Given the description of an element on the screen output the (x, y) to click on. 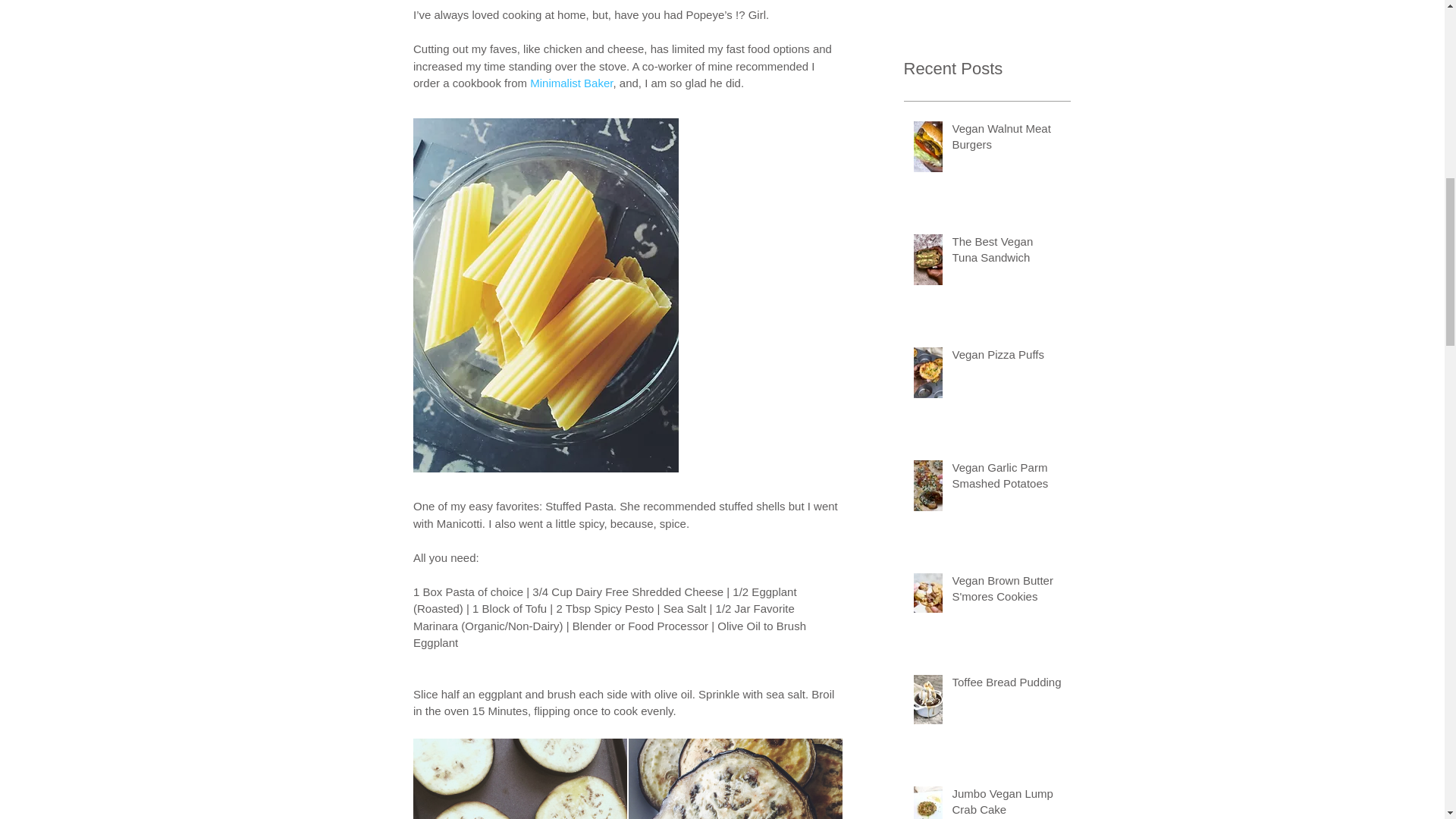
The Best Vegan Tuna Sandwich (1006, 252)
Minimalist Baker (570, 82)
Vegan Pizza Puffs (1006, 357)
Jumbo Vegan Lump Crab Cake (1006, 802)
Vegan Brown Butter S'mores Cookies (1006, 591)
Vegan Garlic Parm Smashed Potatoes (1006, 478)
Vegan Walnut Meat Burgers (1006, 139)
Toffee Bread Pudding (1006, 685)
